Given the description of an element on the screen output the (x, y) to click on. 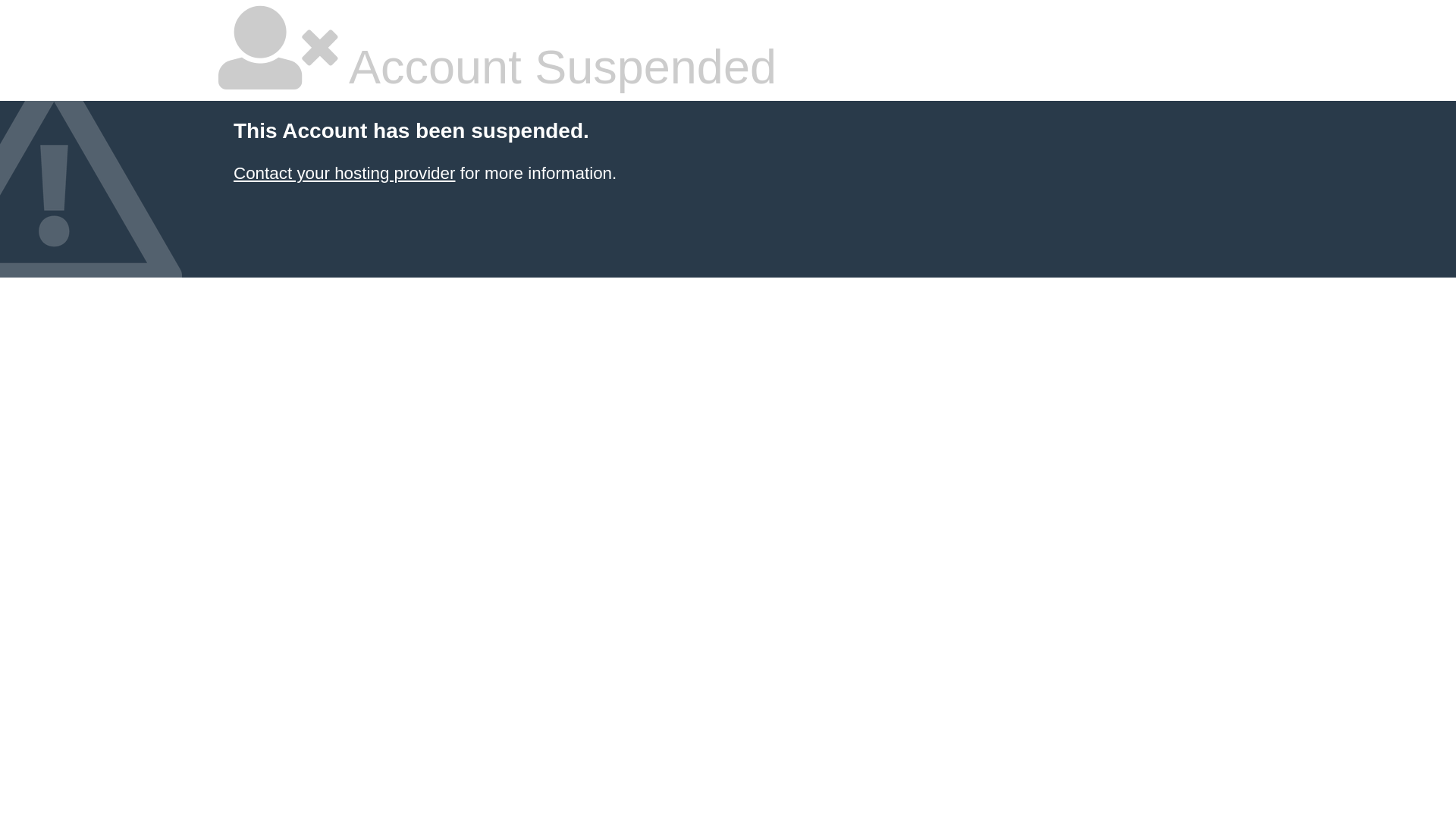
Contact your hosting provider Element type: text (344, 172)
